Given the description of an element on the screen output the (x, y) to click on. 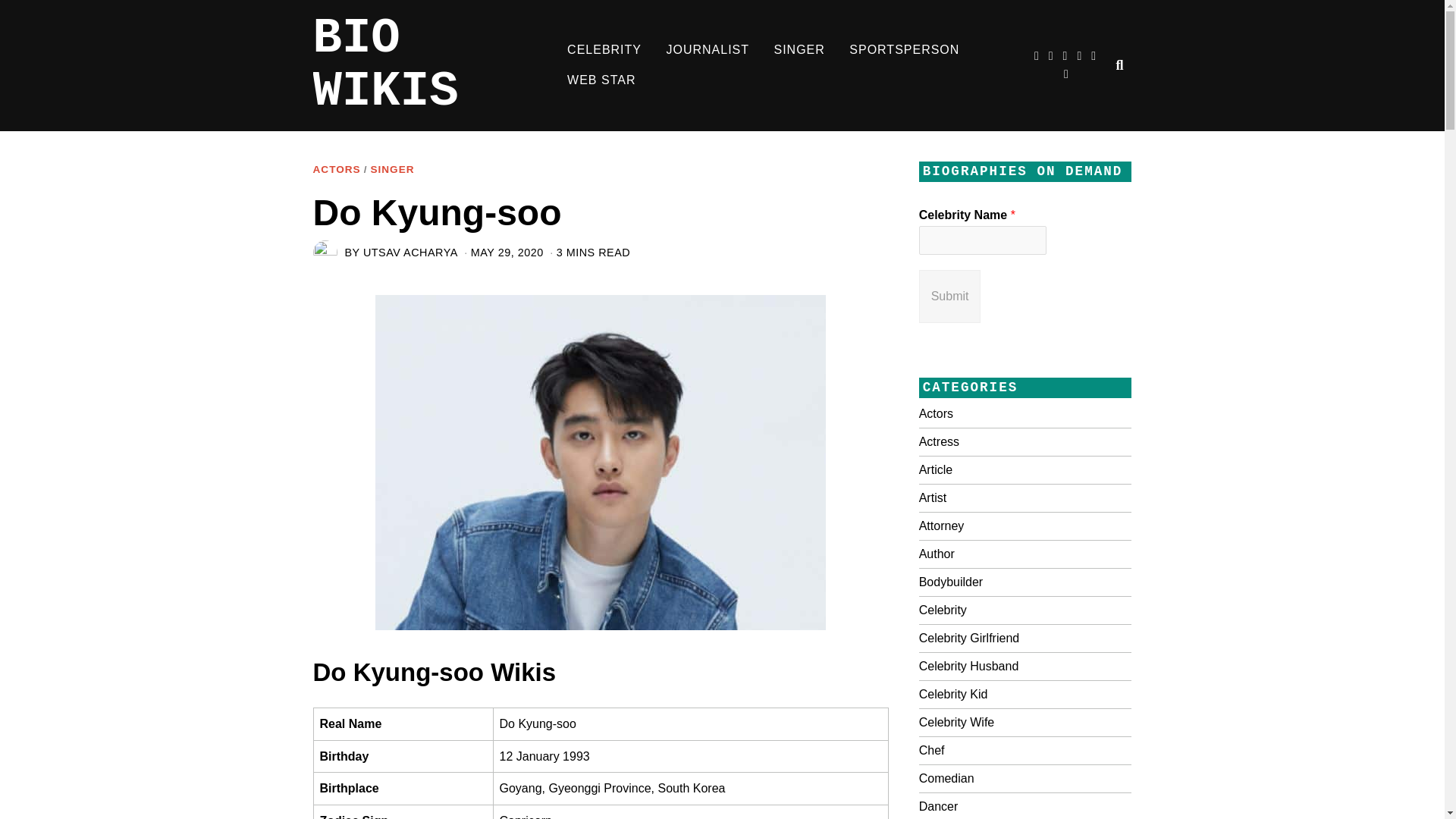
SPORTSPERSON (903, 50)
WEB STAR (601, 80)
SINGER (798, 50)
UTSAV ACHARYA (410, 252)
JOURNALIST (707, 50)
CELEBRITY (604, 50)
BIO WIKIS (434, 65)
SINGER (391, 169)
ACTORS (336, 169)
